Given the description of an element on the screen output the (x, y) to click on. 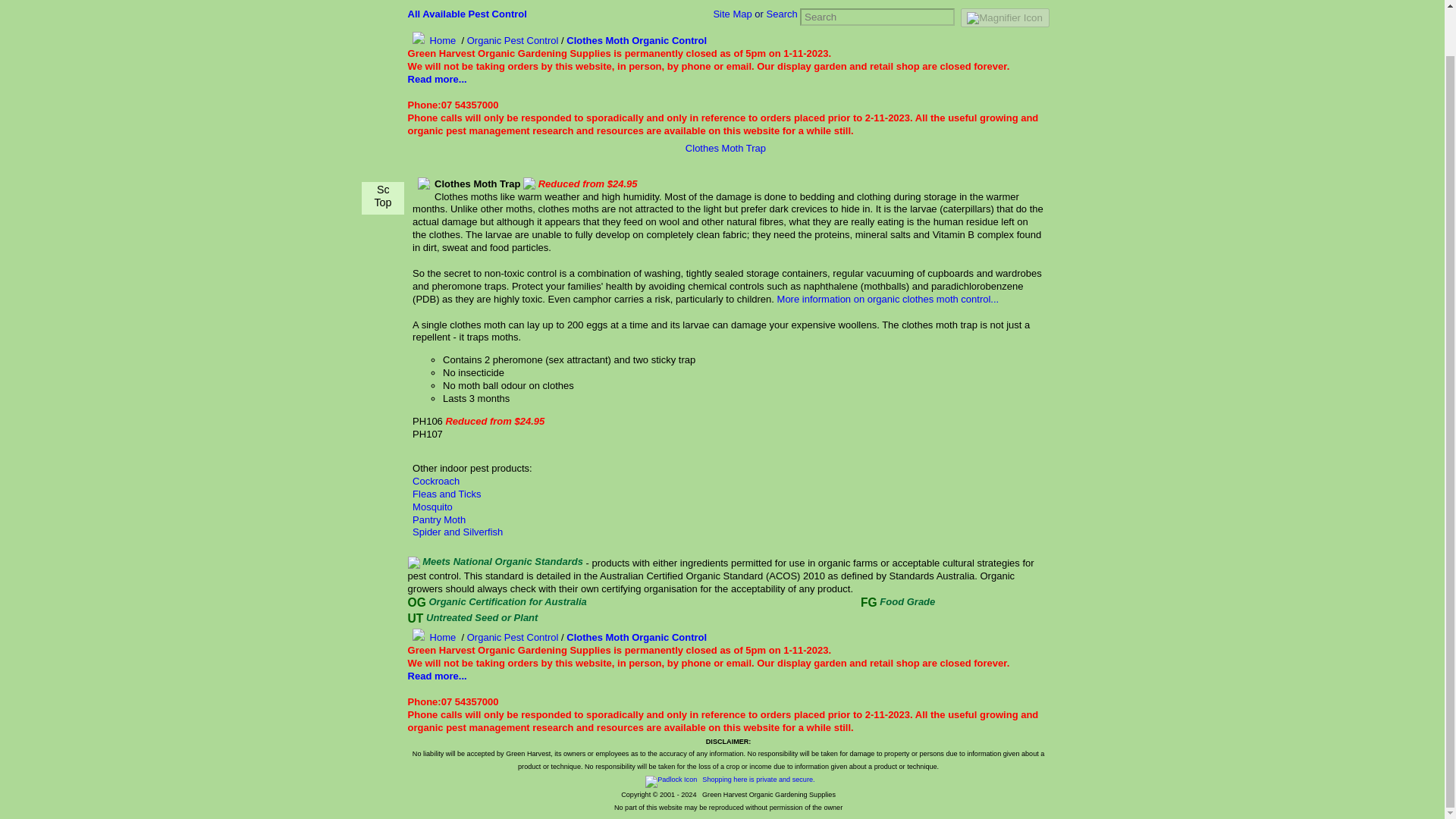
Home (432, 636)
Search (780, 13)
Fleas and Ticks (446, 493)
Mosquito (432, 506)
Clothes Moth Trap (725, 147)
Organic Pest Control (513, 40)
Padlock Icon (671, 781)
Scroll Up Icon (382, 141)
Magnifier Icon (1004, 18)
Shopping here is private and secure. (728, 778)
Read more... (437, 675)
Cockroach (436, 480)
Read more... (437, 79)
Pantry Moth (438, 519)
All Available Pest Control (467, 13)
